Given the description of an element on the screen output the (x, y) to click on. 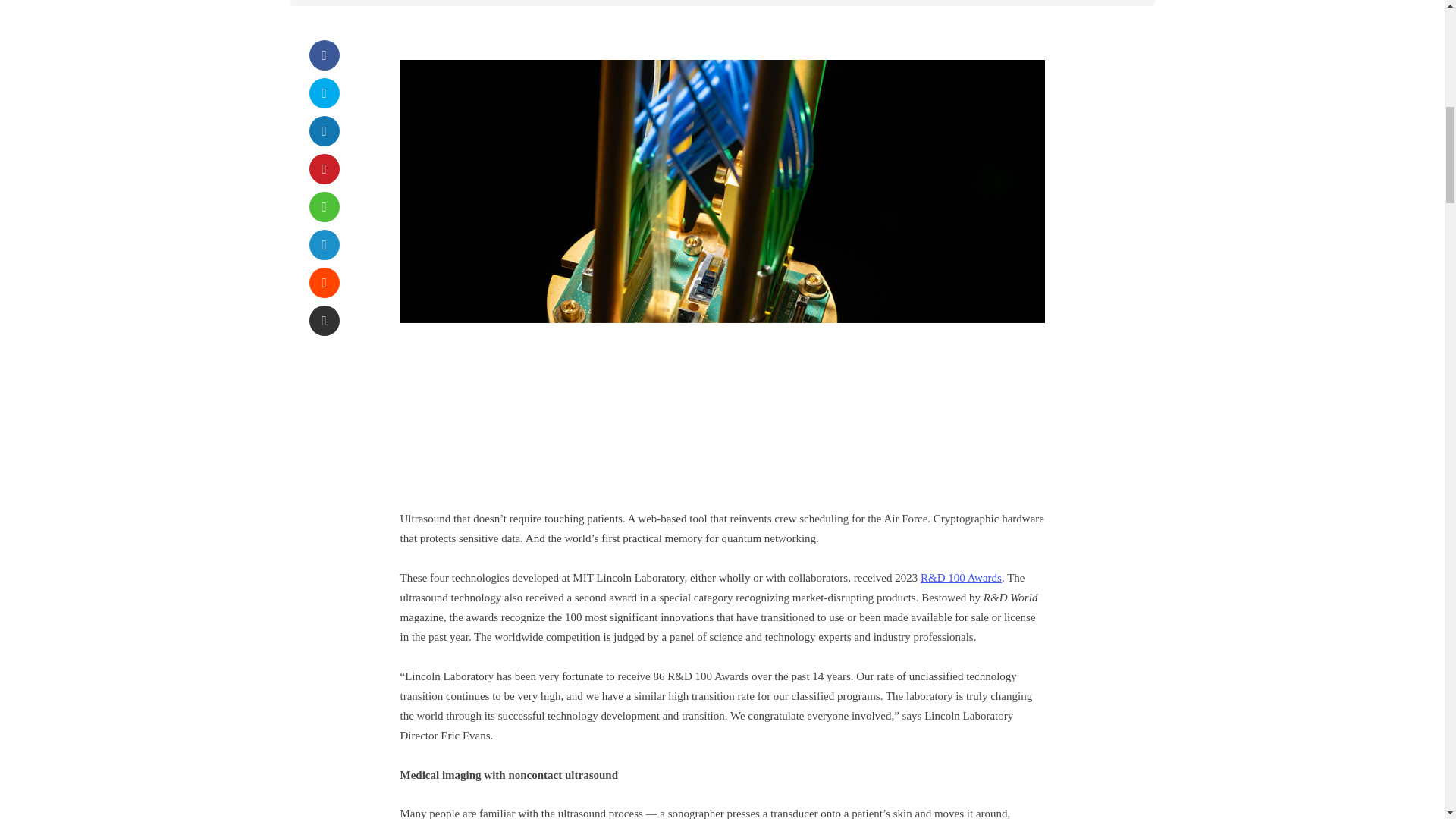
Share with Facebook (323, 55)
